Given the description of an element on the screen output the (x, y) to click on. 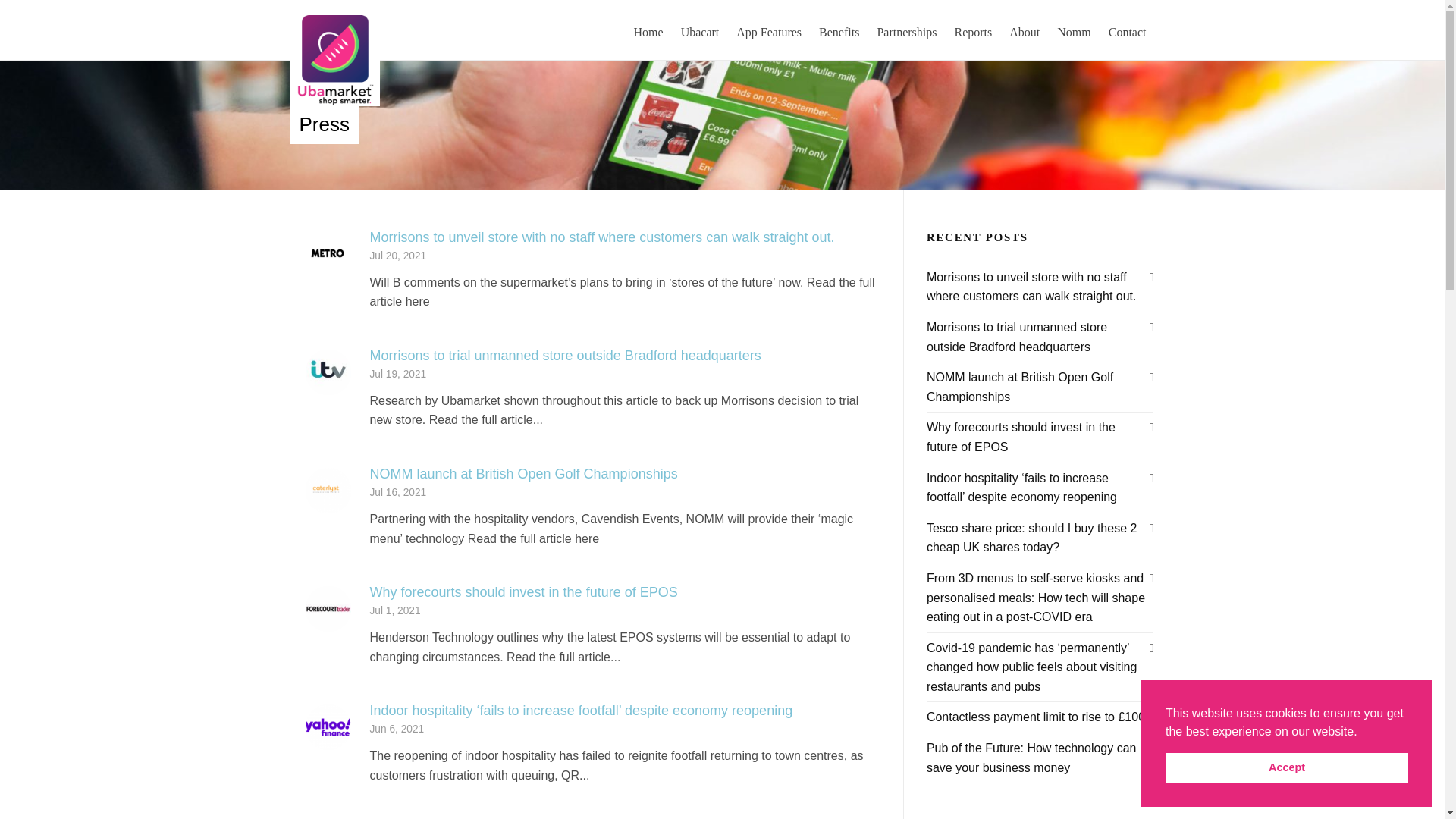
Ubacart (700, 30)
Benefits (838, 30)
NOMM launch at British Open Golf Championships (328, 490)
NOMM launch at British Open Golf Championships (523, 473)
Reports (973, 30)
Partnerships (905, 30)
Contact (1127, 30)
